Given the description of an element on the screen output the (x, y) to click on. 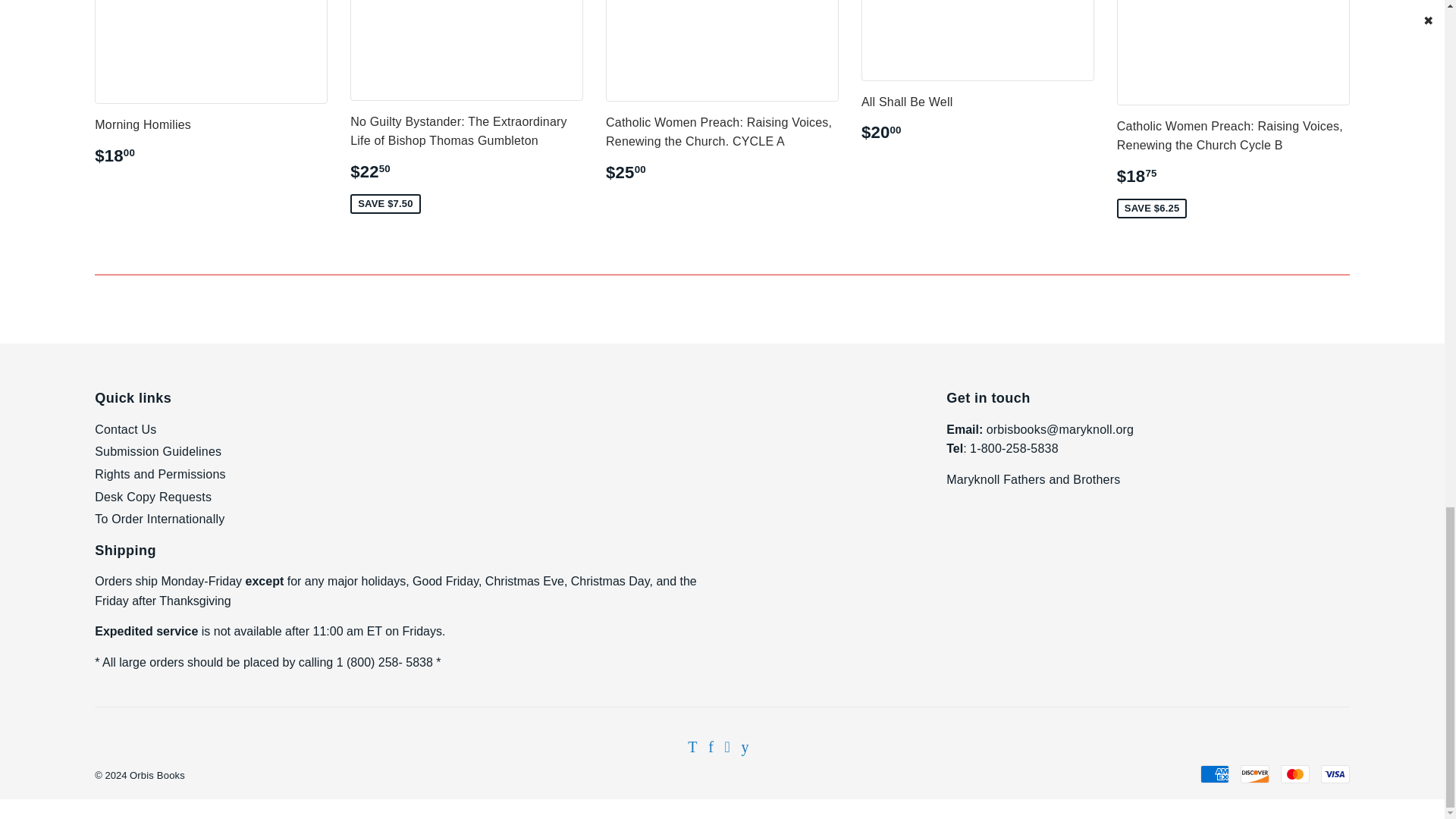
Discover (1254, 773)
tel:9149417636 (1013, 448)
Mastercard (1294, 773)
American Express (1213, 773)
Visa (1334, 773)
